Given the description of an element on the screen output the (x, y) to click on. 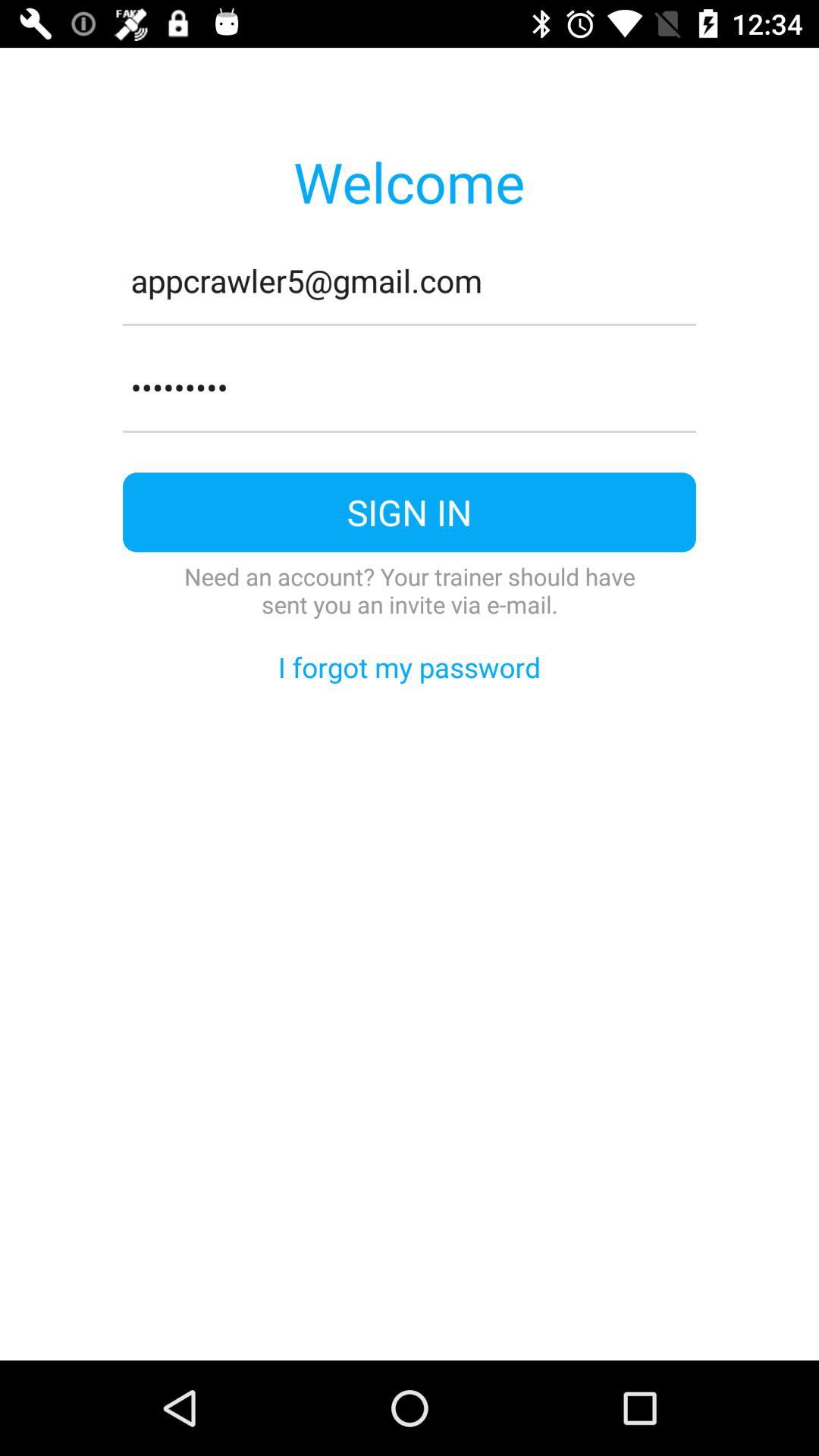
open i forgot my (409, 666)
